Given the description of an element on the screen output the (x, y) to click on. 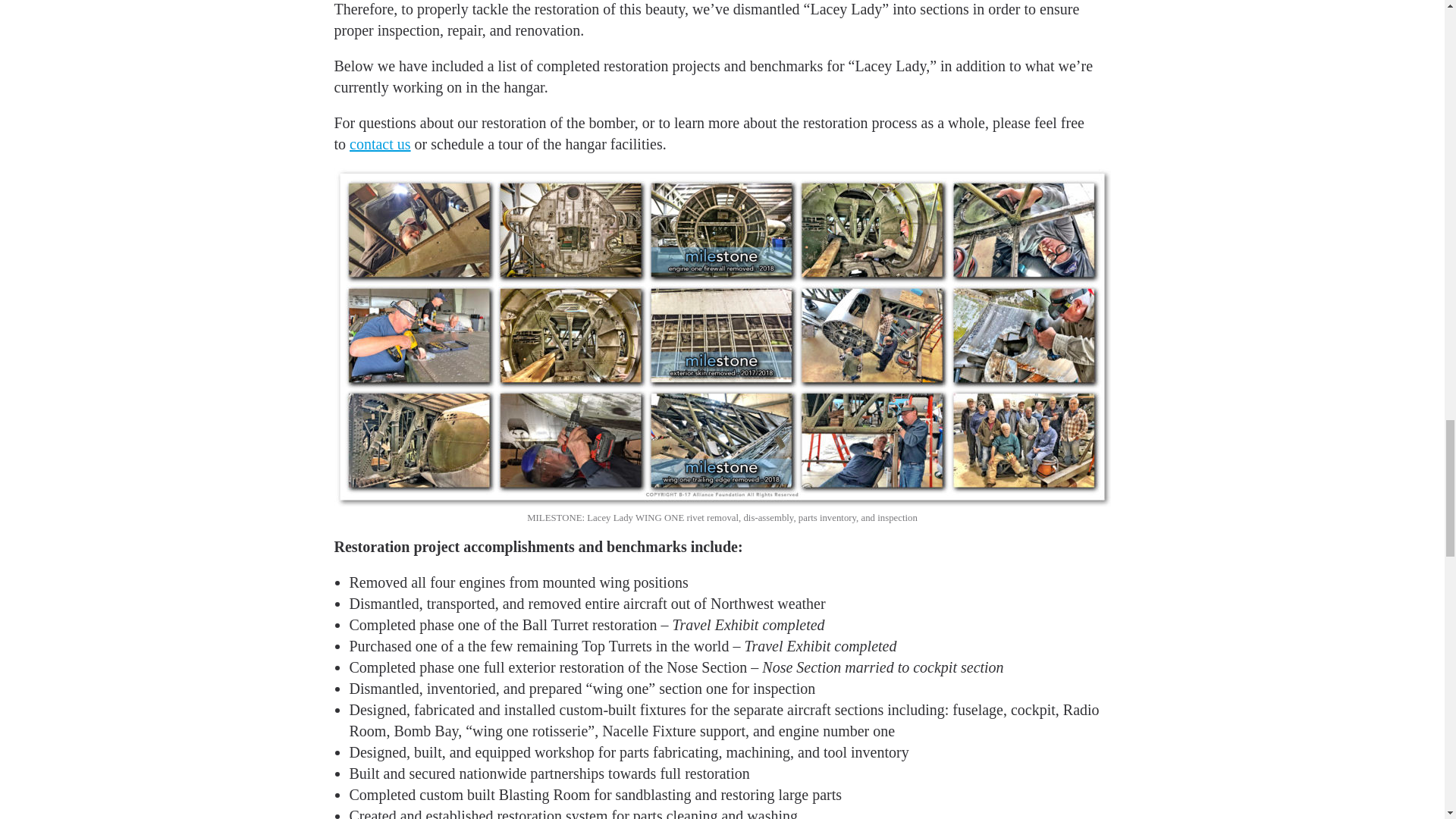
contact us (379, 143)
